Given the description of an element on the screen output the (x, y) to click on. 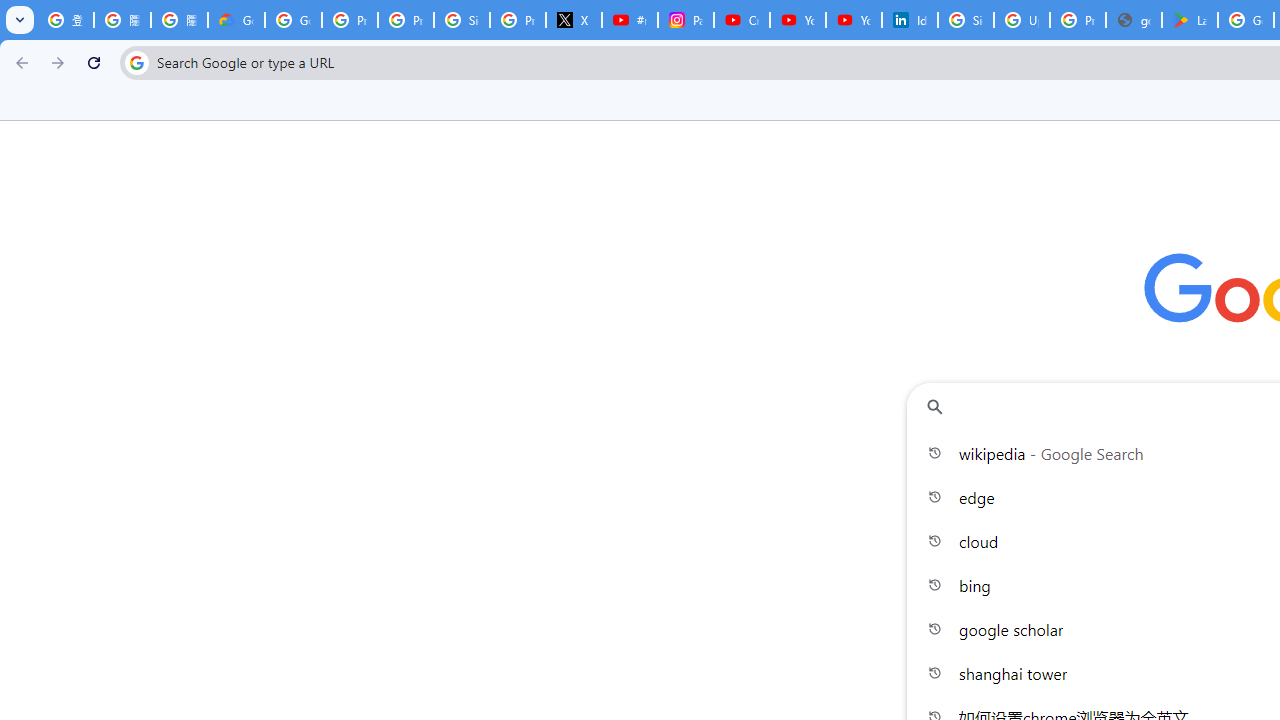
YouTube Culture & Trends - YouTube Top 10, 2021 (853, 20)
Sign in - Google Accounts (461, 20)
google_privacy_policy_en.pdf (1133, 20)
Google Cloud Privacy Notice (235, 20)
#nbabasketballhighlights - YouTube (629, 20)
